Given the description of an element on the screen output the (x, y) to click on. 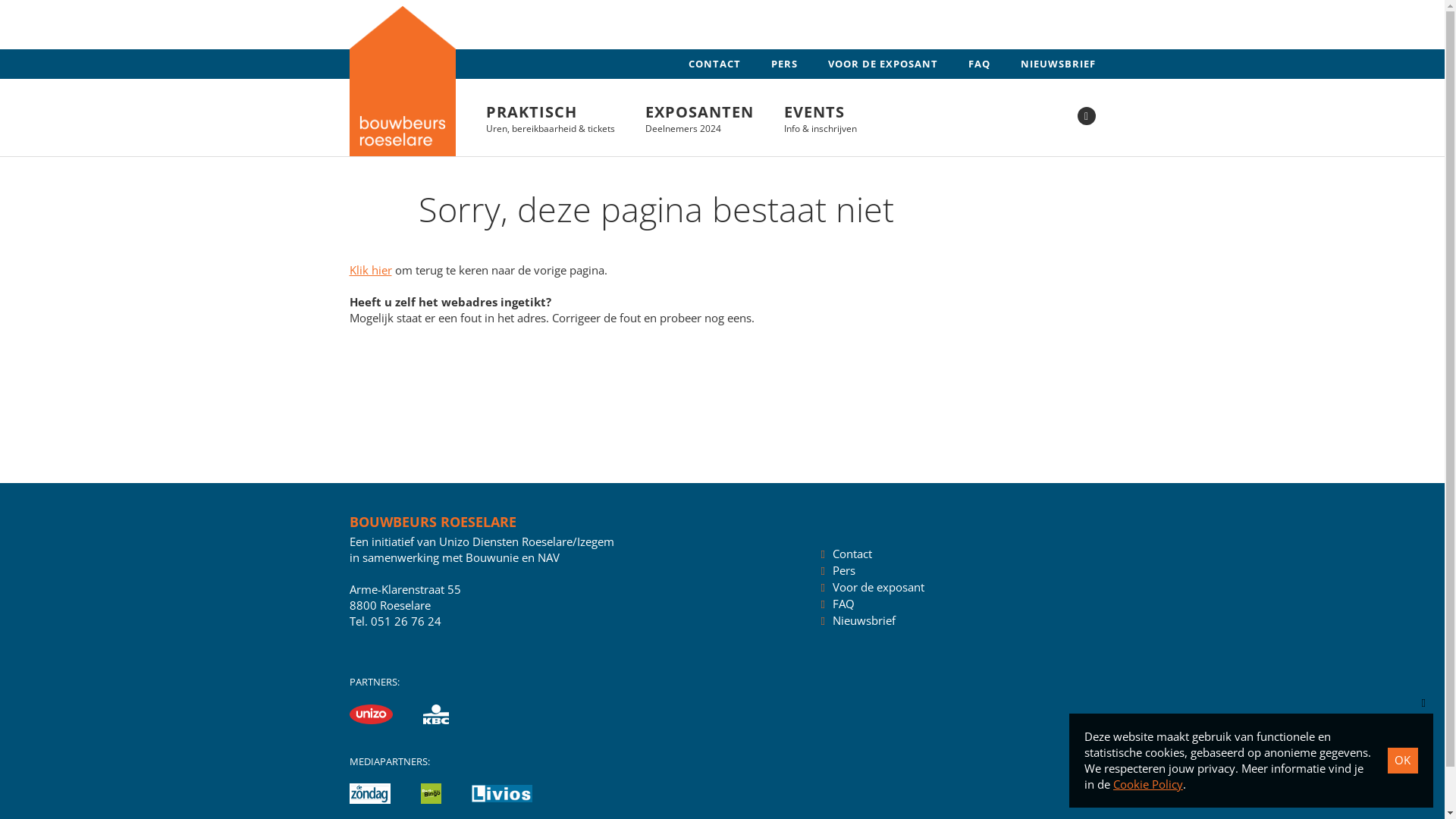
Pers Element type: text (843, 569)
CONTACT Element type: text (714, 63)
051 26 76 24 Element type: text (405, 620)
PERS Element type: text (783, 63)
Cookie Policy Element type: text (1148, 783)
EVENTS
Info & inschrijven Element type: text (820, 118)
Bouwbeurs van Roeselare Element type: hover (401, 81)
OK Element type: text (1402, 760)
EXPOSANTEN
Deelnemers 2024 Element type: text (698, 118)
Nieuwsbrief Element type: text (863, 619)
Klik hier Element type: text (369, 269)
FAQ Element type: text (978, 63)
Contact Element type: text (852, 553)
VOOR DE EXPOSANT Element type: text (882, 63)
Voor de exposant Element type: text (878, 586)
FAQ Element type: text (843, 603)
NIEUWSBRIEF Element type: text (1057, 63)
PRAKTISCH
Uren, bereikbaarheid & tickets Element type: text (549, 118)
